Given the description of an element on the screen output the (x, y) to click on. 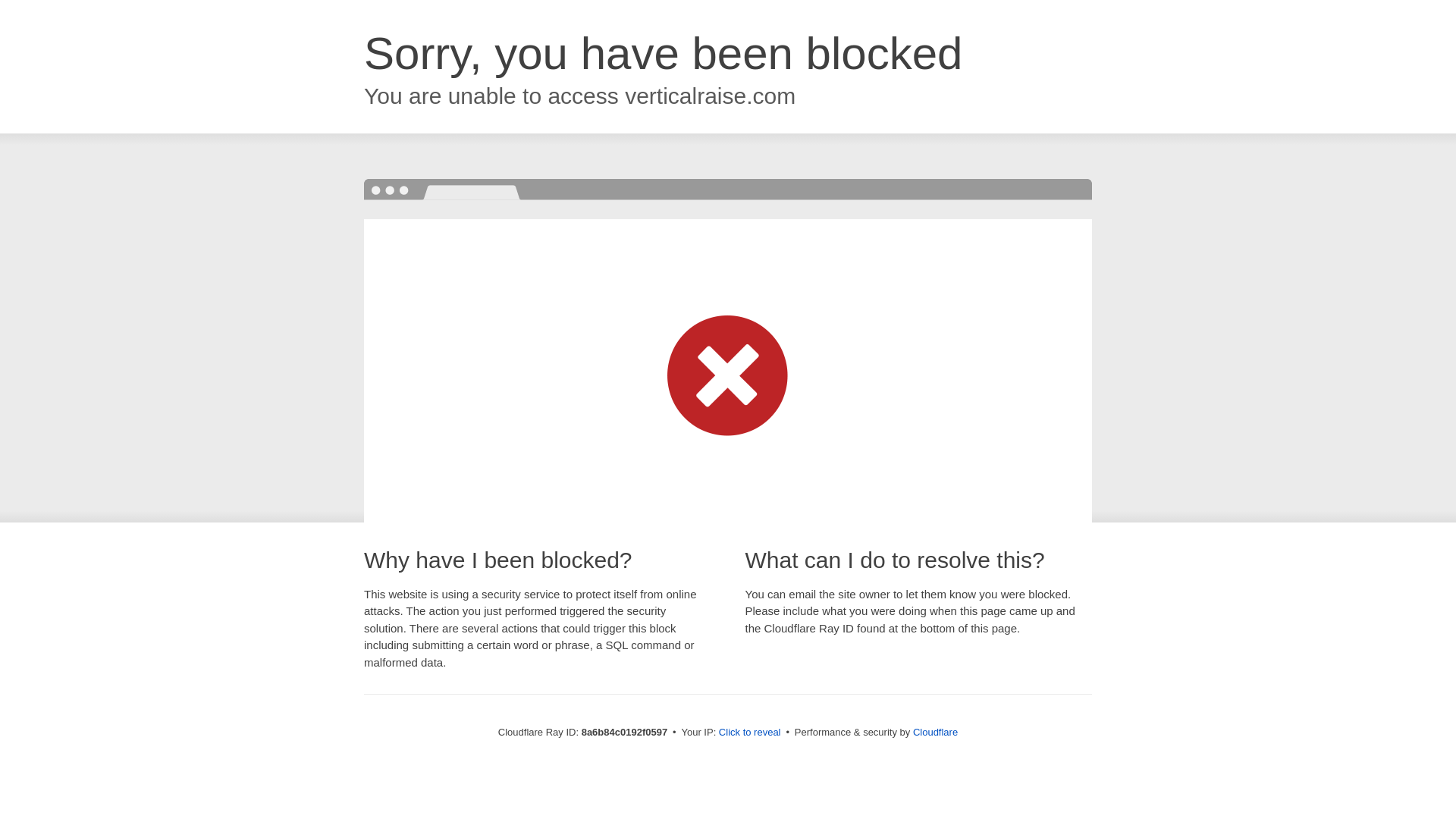
Click to reveal (749, 732)
Cloudflare (935, 731)
